Given the description of an element on the screen output the (x, y) to click on. 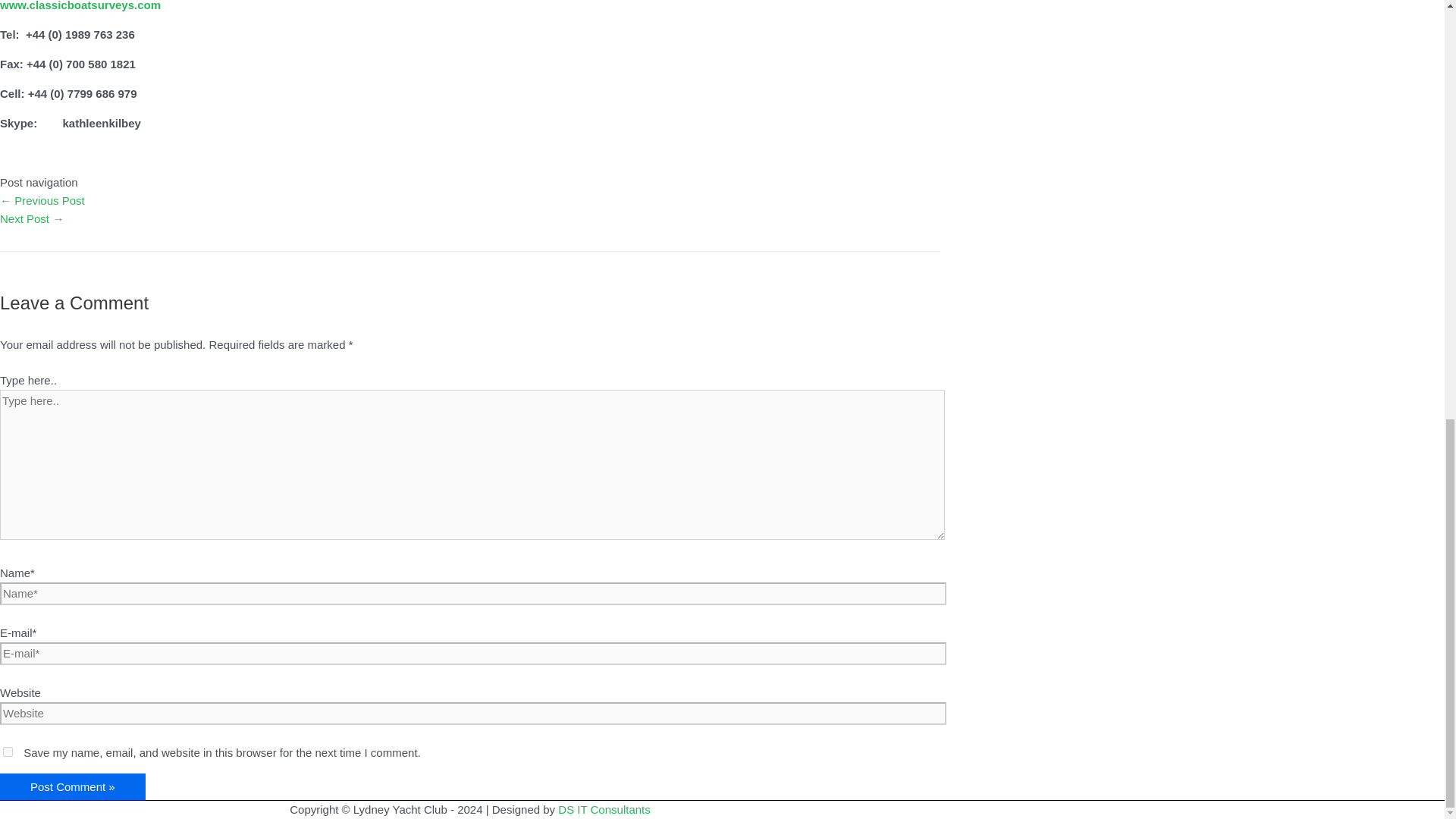
DS IT Consultants (603, 809)
yes (7, 751)
www.classicboatsurveys.com (80, 5)
